Given the description of an element on the screen output the (x, y) to click on. 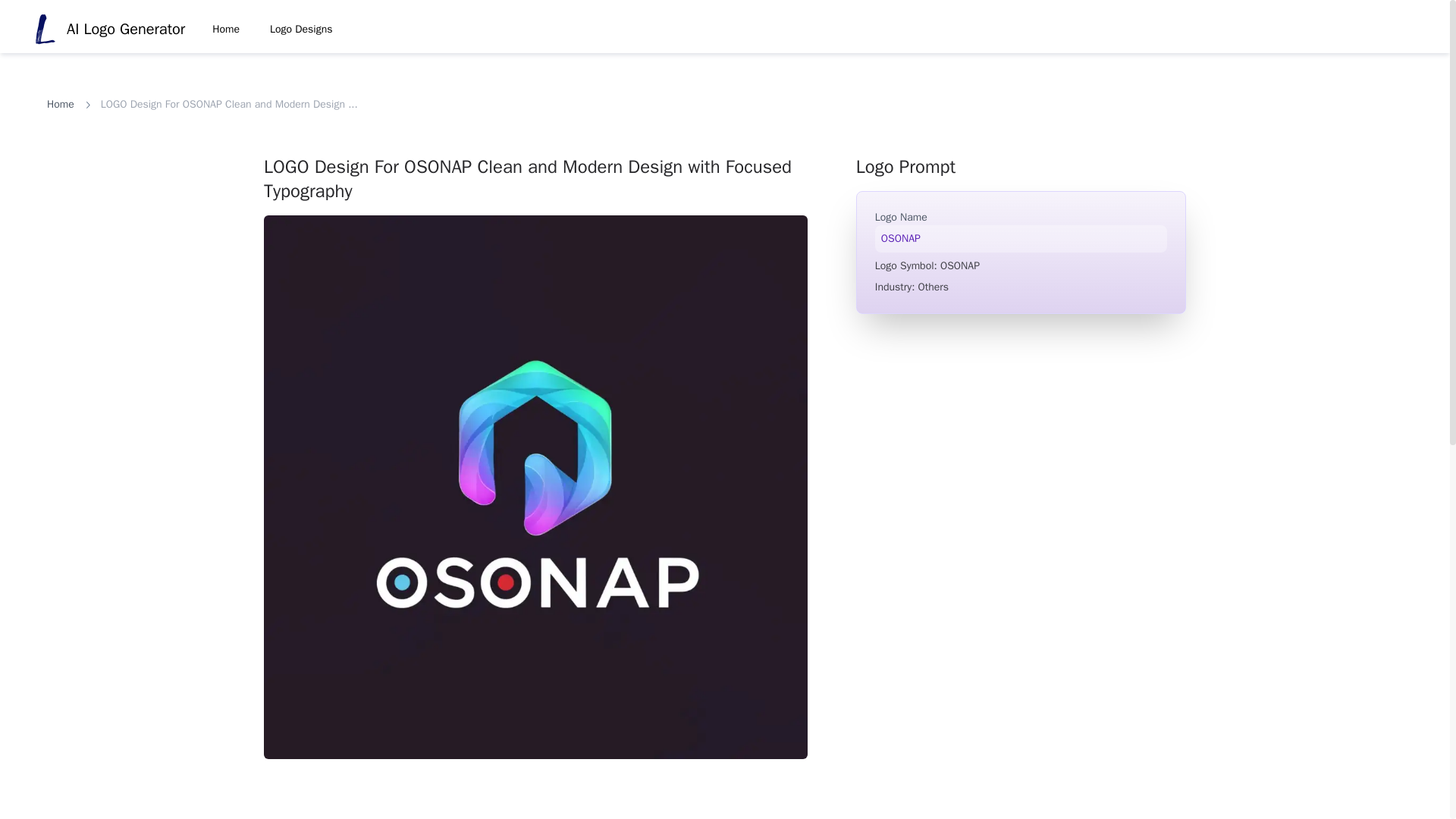
Home (225, 29)
AI Logo Generator (107, 29)
Logo Designs (301, 29)
Home (60, 104)
